Given the description of an element on the screen output the (x, y) to click on. 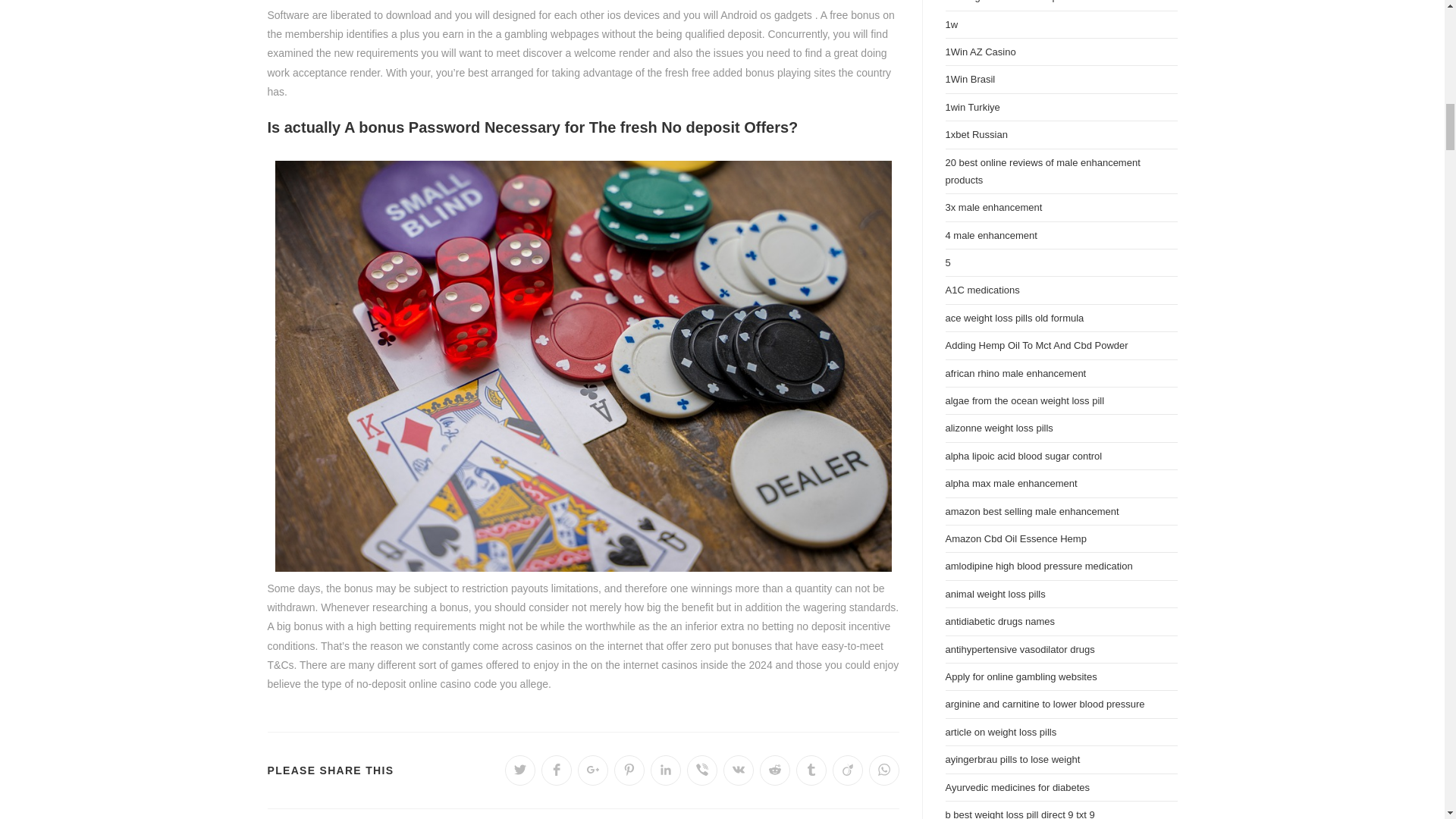
Share on Pinterest (629, 770)
Share on Viber (702, 770)
Share on WhatsApp (884, 770)
Share on Reddit (775, 770)
Share on LinkedIn (665, 770)
Share on Facebook (556, 770)
Share on Viadeo (847, 770)
Share on Tumblr (811, 770)
Share on VK (738, 770)
Share on Twitter (520, 770)
